Given the description of an element on the screen output the (x, y) to click on. 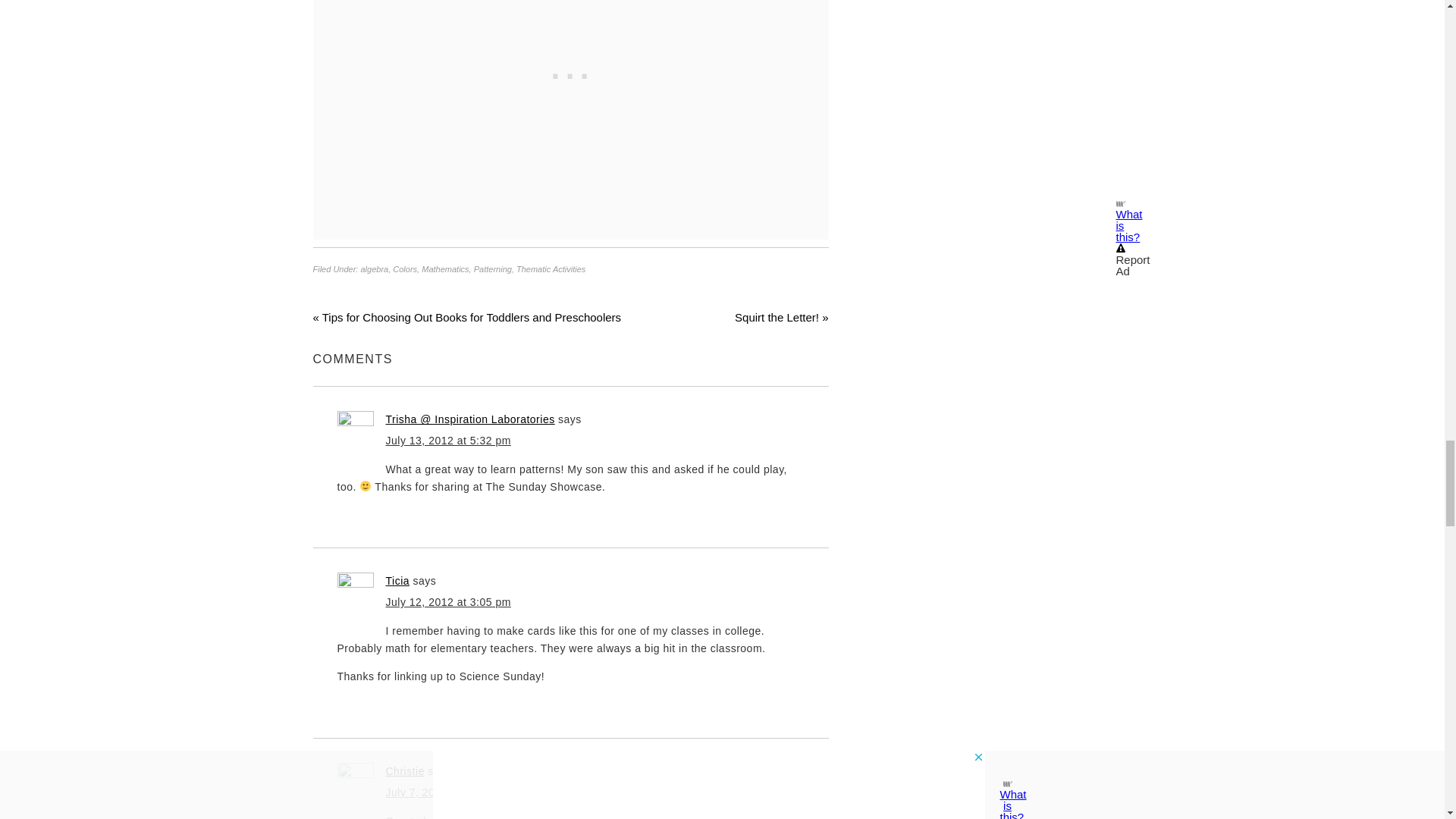
Christie (404, 770)
Patterning (493, 268)
Ticia (397, 580)
algebra (373, 268)
July 7, 2012 at 9:14 am (444, 792)
July 13, 2012 at 5:32 pm (448, 440)
July 12, 2012 at 3:05 pm (448, 602)
Colors (404, 268)
Thematic Activities (550, 268)
Mathematics (445, 268)
